Given the description of an element on the screen output the (x, y) to click on. 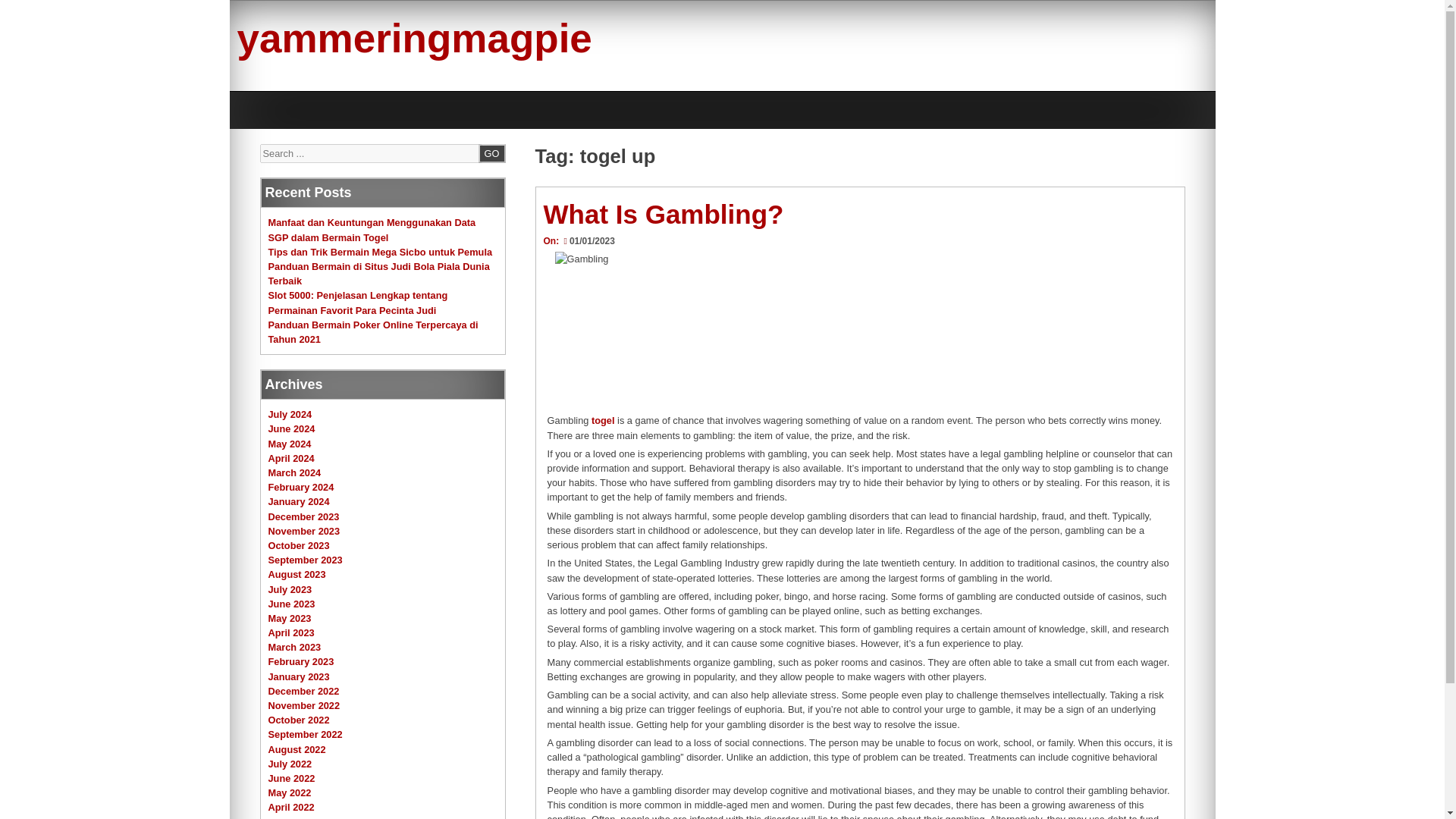
Tips dan Trik Bermain Mega Sicbo untuk Pemula (380, 251)
October 2023 (298, 545)
Panduan Bermain Poker Online Terpercaya di Tahun 2021 (373, 331)
July 2024 (290, 414)
June 2024 (291, 428)
GO (492, 153)
GO (492, 153)
November 2023 (303, 531)
togel (602, 419)
December 2023 (303, 516)
What Is Gambling? (663, 214)
March 2024 (294, 472)
January 2024 (298, 501)
